Given the description of an element on the screen output the (x, y) to click on. 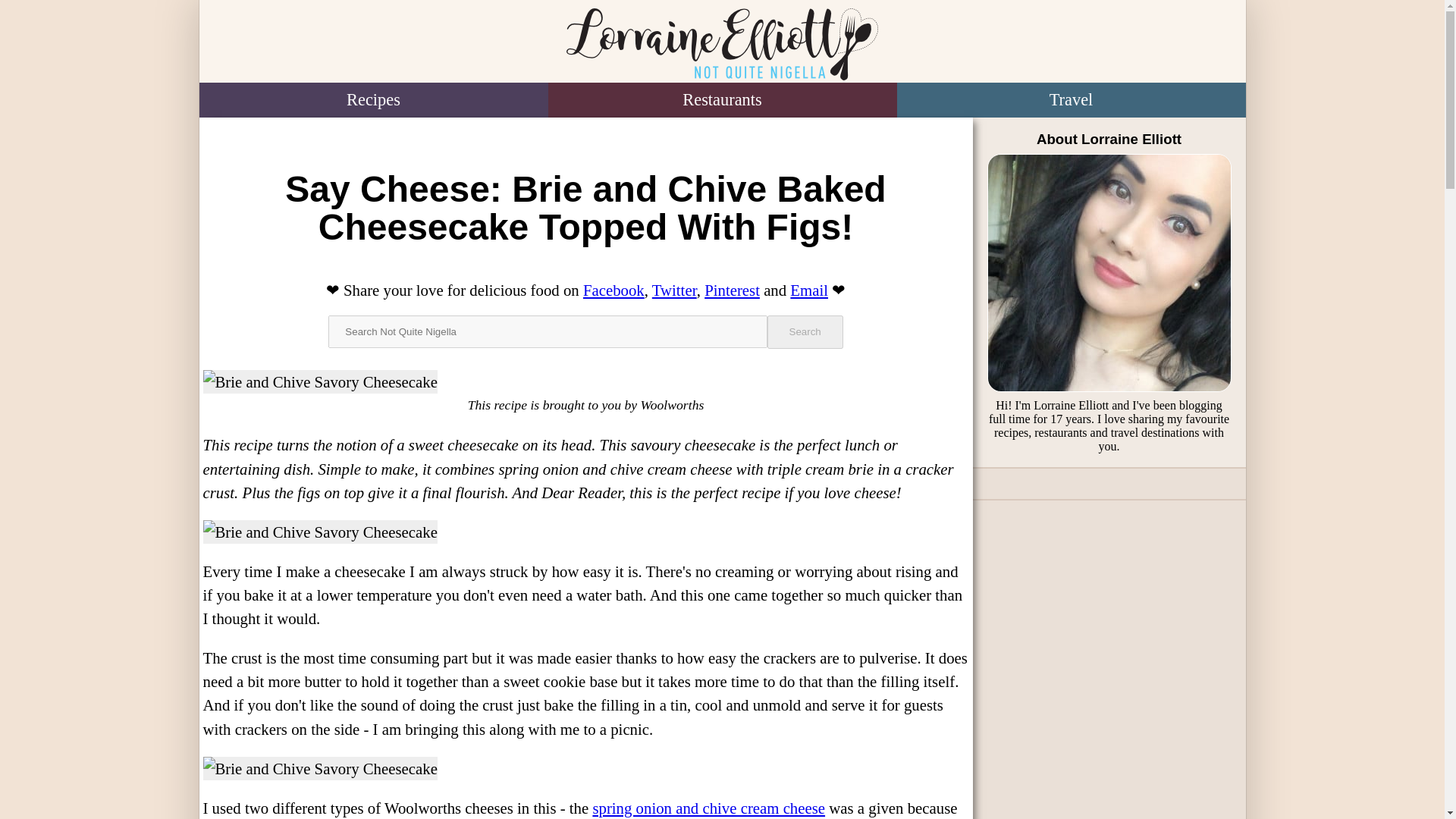
Not Quite Nigella (721, 44)
Pin it (732, 289)
Email (809, 289)
spring onion and chive cream cheese (708, 807)
Facebook (614, 289)
Restaurants (721, 99)
Pinterest (732, 289)
Recipes (372, 99)
delicious food (513, 289)
Twitter (674, 289)
